Given the description of an element on the screen output the (x, y) to click on. 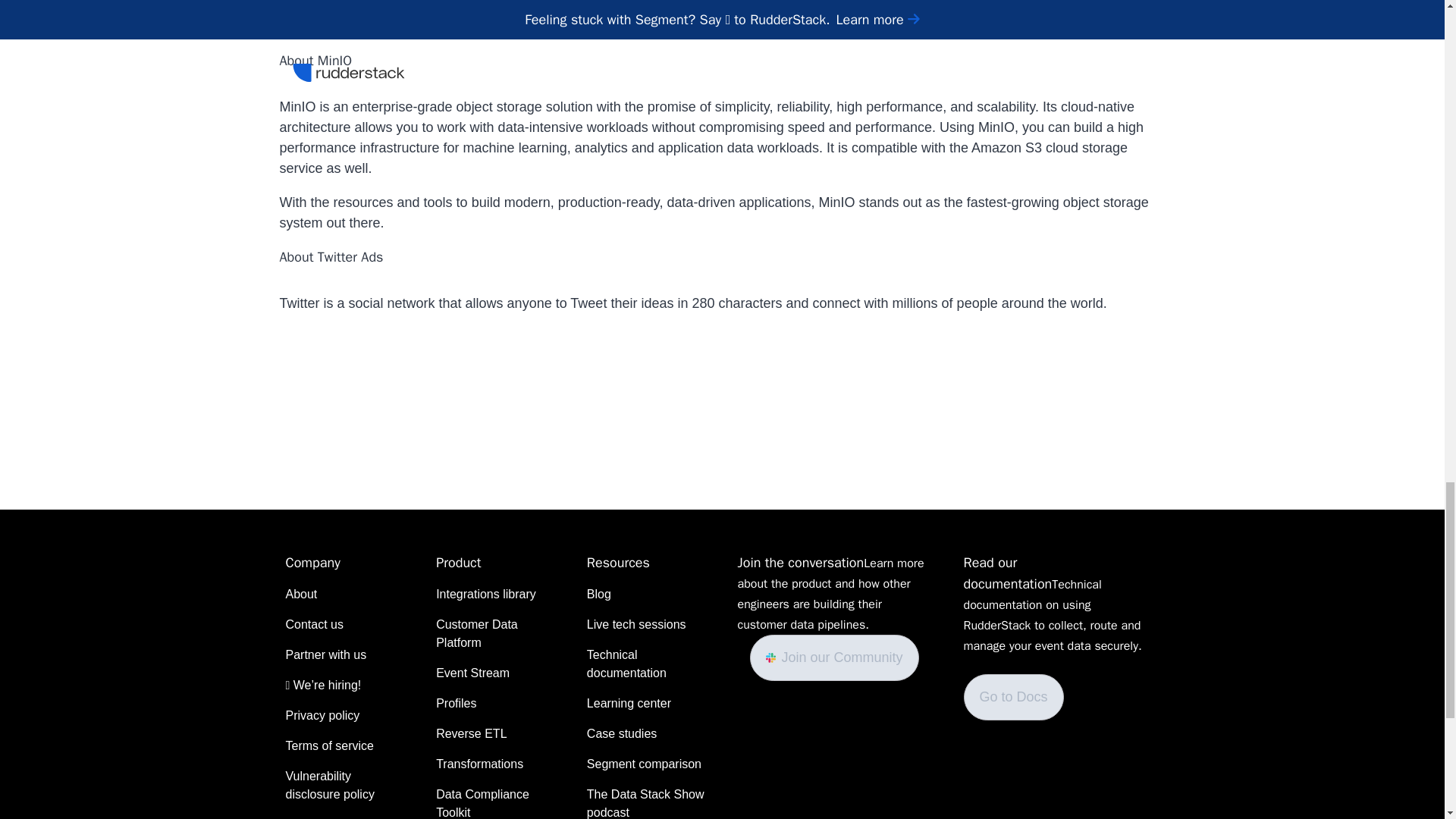
About (301, 594)
Terms of service (328, 746)
Contact us (313, 624)
Partner with us (325, 655)
Privacy policy (322, 715)
